Given the description of an element on the screen output the (x, y) to click on. 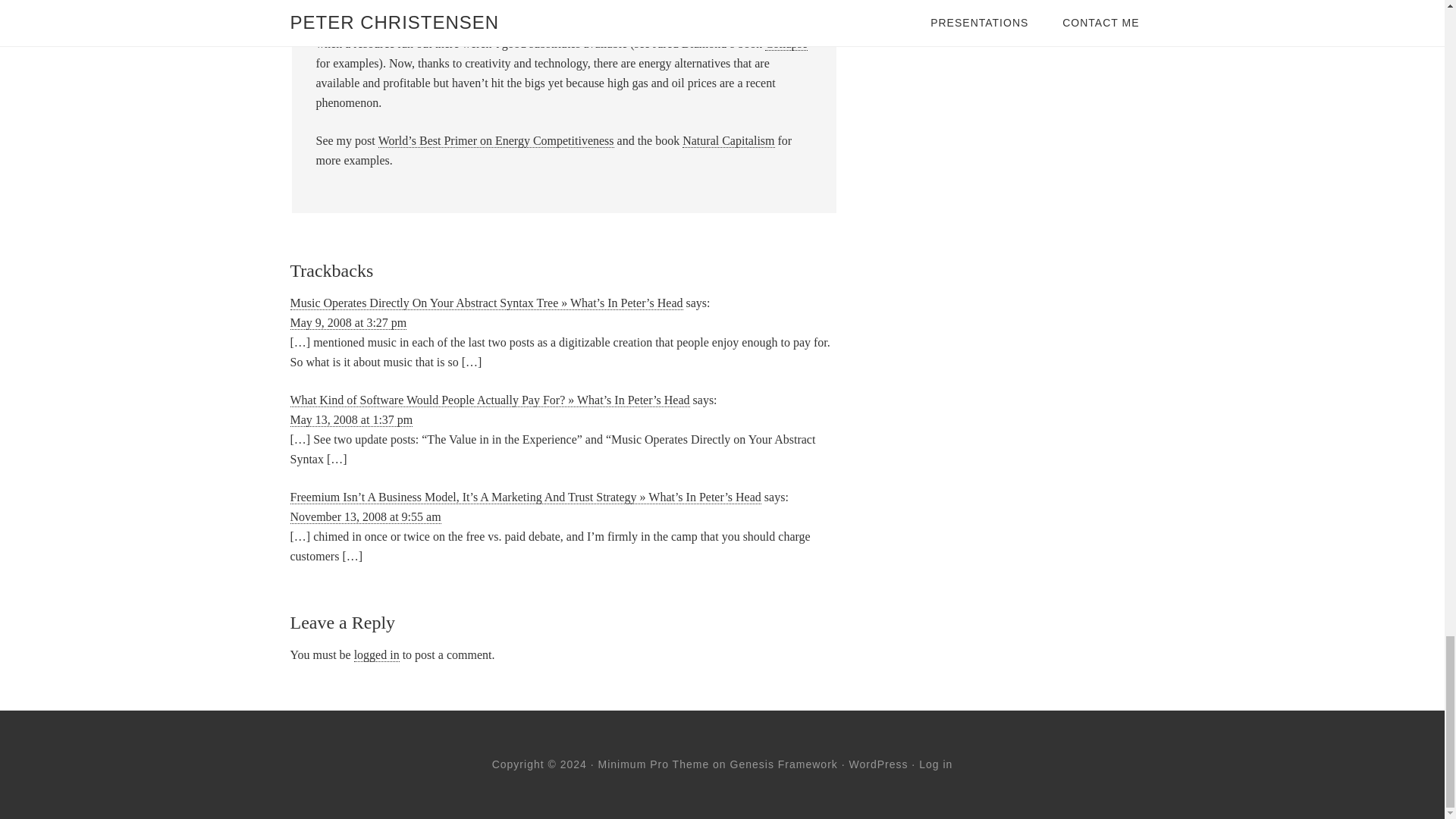
logged in (375, 654)
Collapse (786, 43)
November 13, 2008 at 9:55 am (365, 517)
May 13, 2008 at 1:37 pm (350, 419)
May 9, 2008 at 3:27 pm (347, 323)
Natural Capitalism (728, 141)
